Given the description of an element on the screen output the (x, y) to click on. 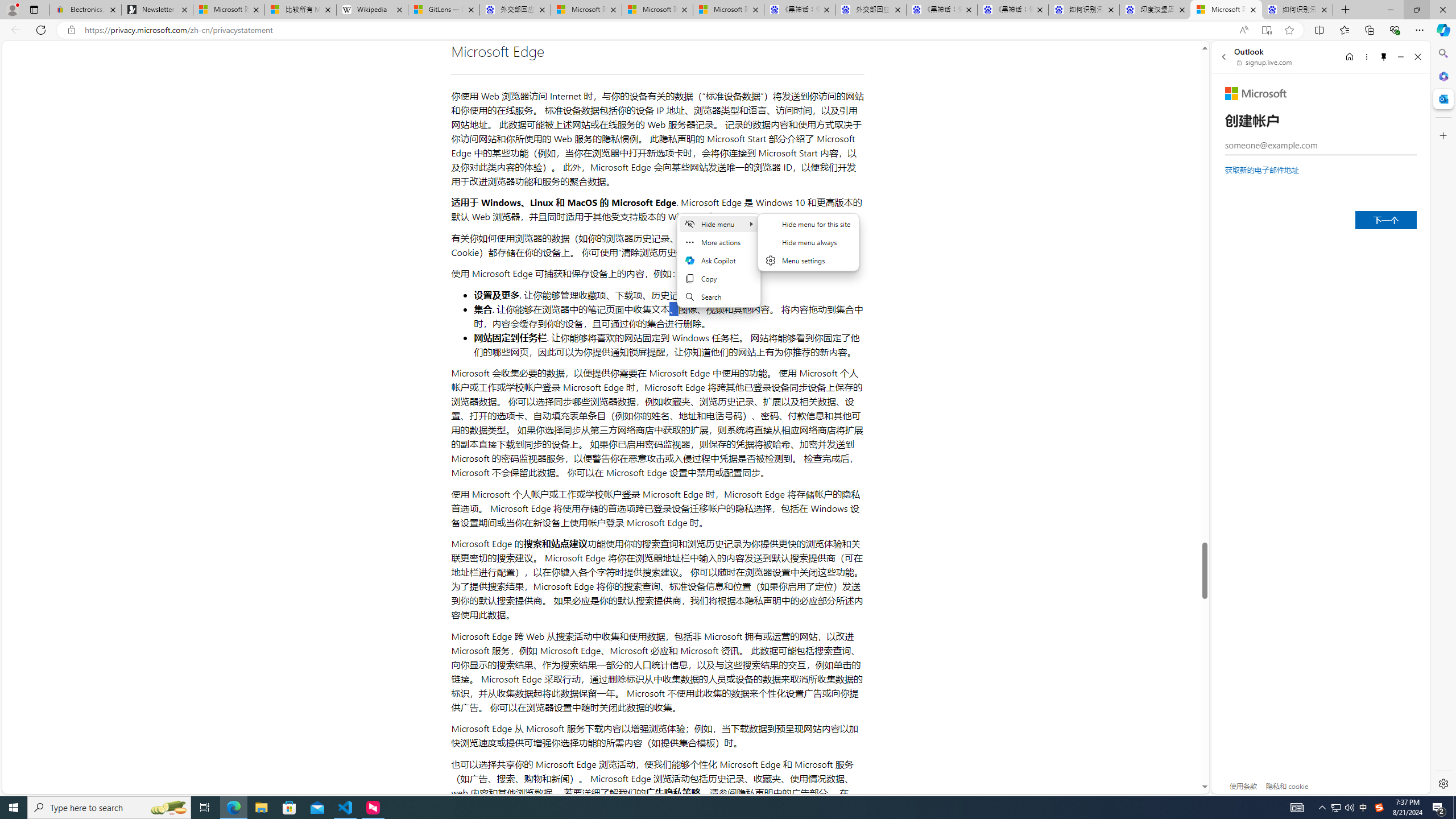
Hide menu (718, 223)
signup.live.com (1264, 61)
Copy (718, 278)
